Given the description of an element on the screen output the (x, y) to click on. 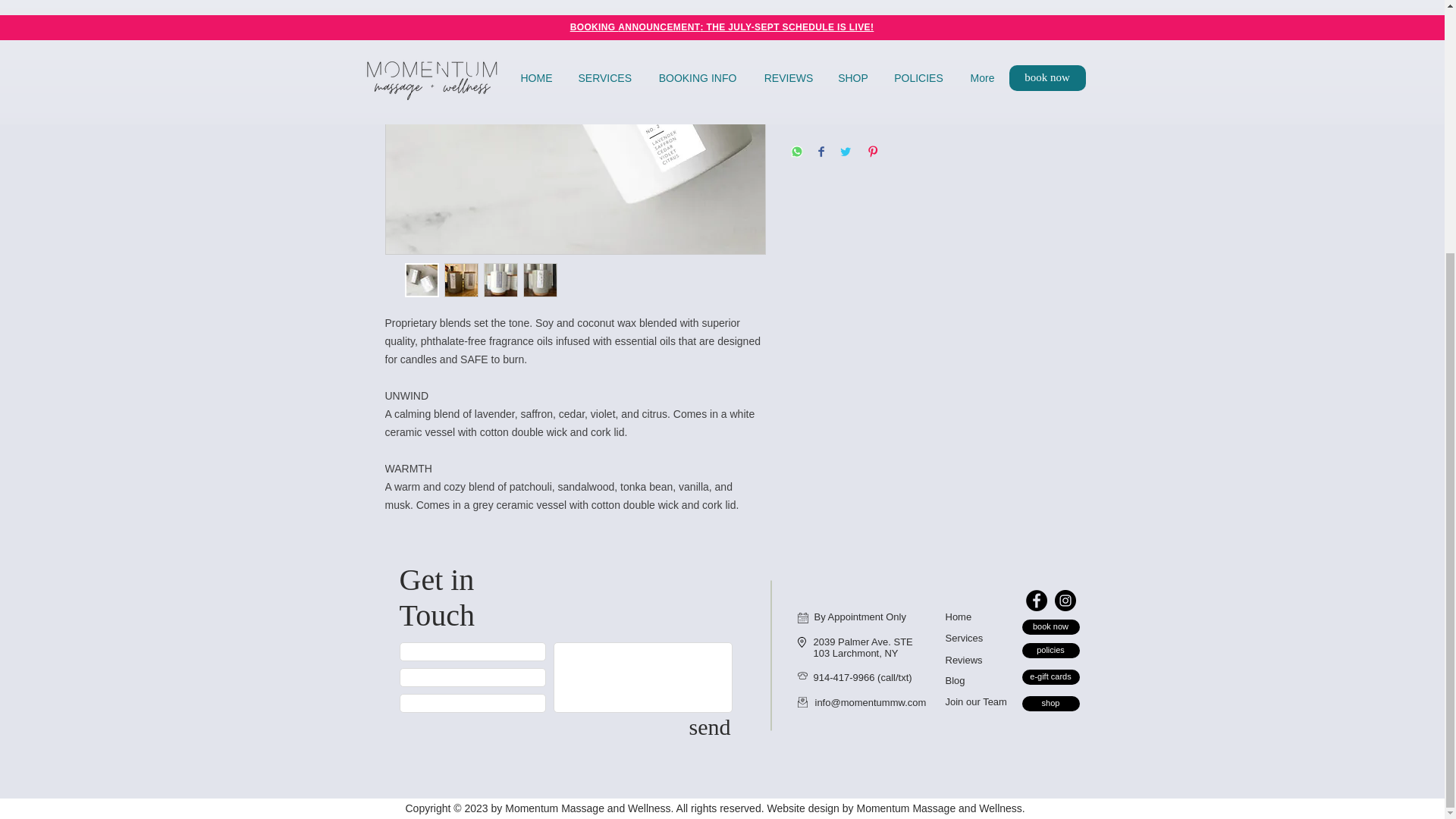
Join our Team (975, 701)
policies (1051, 650)
1 (818, 38)
Add to Cart (903, 94)
Reviews (962, 659)
shop (1051, 703)
2039 Palmer Ave. STE 103 Larchmont, NY (862, 647)
Home (957, 616)
book now (1051, 626)
e-gift cards (1051, 676)
send (709, 726)
By Appointment Only (859, 616)
Blog (953, 680)
Services (963, 637)
